Given the description of an element on the screen output the (x, y) to click on. 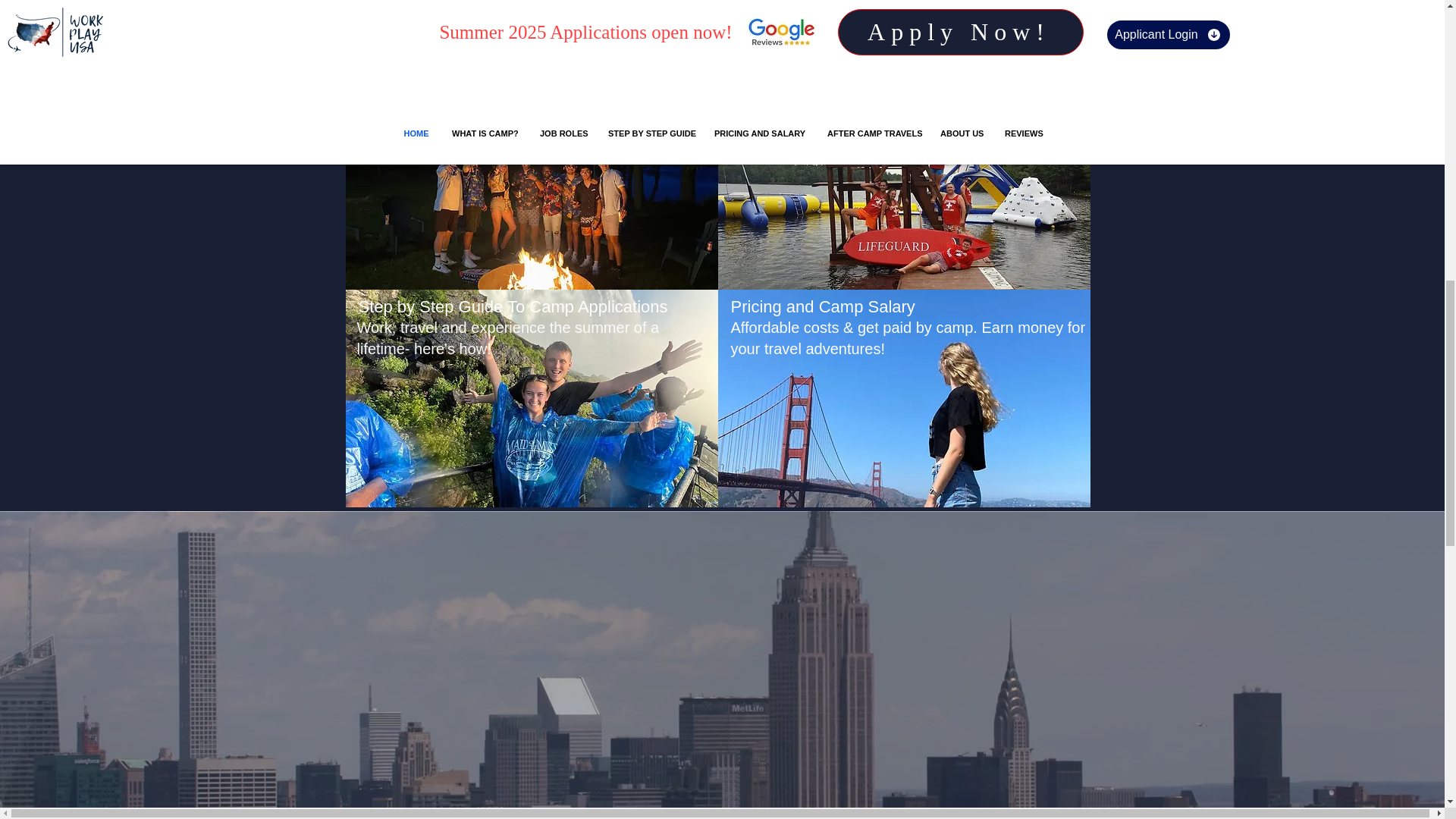
Pricing and Camp Salary (822, 306)
There is a job for everyone at camp, no experience required! (901, 124)
Job Roles at Camp (801, 88)
Working at a camp in the USA is a summer job like no other!  (528, 124)
What is Camp? (414, 88)
Step by Step Guide To Camp Applications (512, 306)
